Given the description of an element on the screen output the (x, y) to click on. 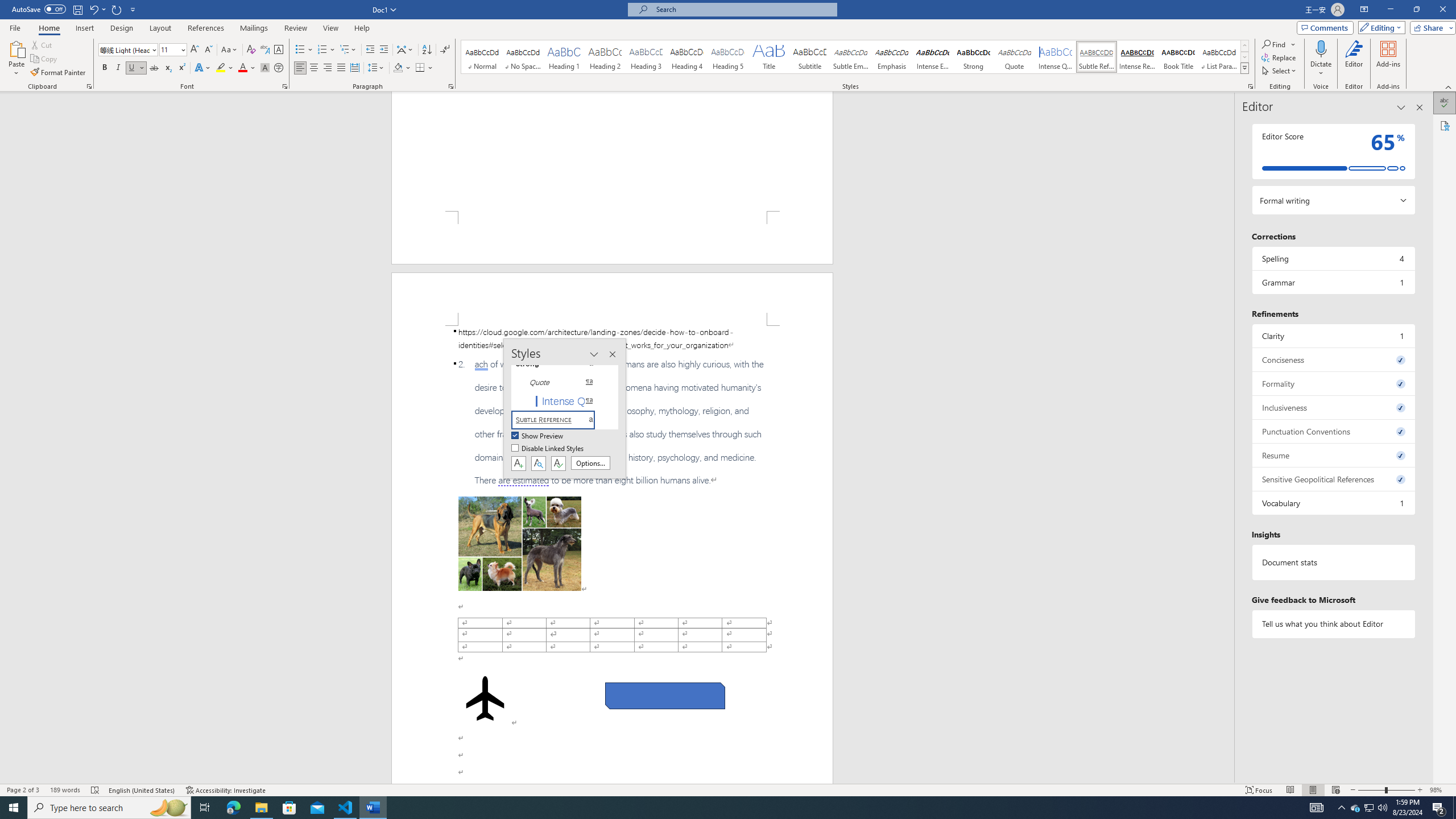
Intense Reference (1136, 56)
Emphasis (891, 56)
Vocabulary, 1 issue. Press space or enter to review items. (1333, 502)
Class: NetUIButton (558, 463)
